Given the description of an element on the screen output the (x, y) to click on. 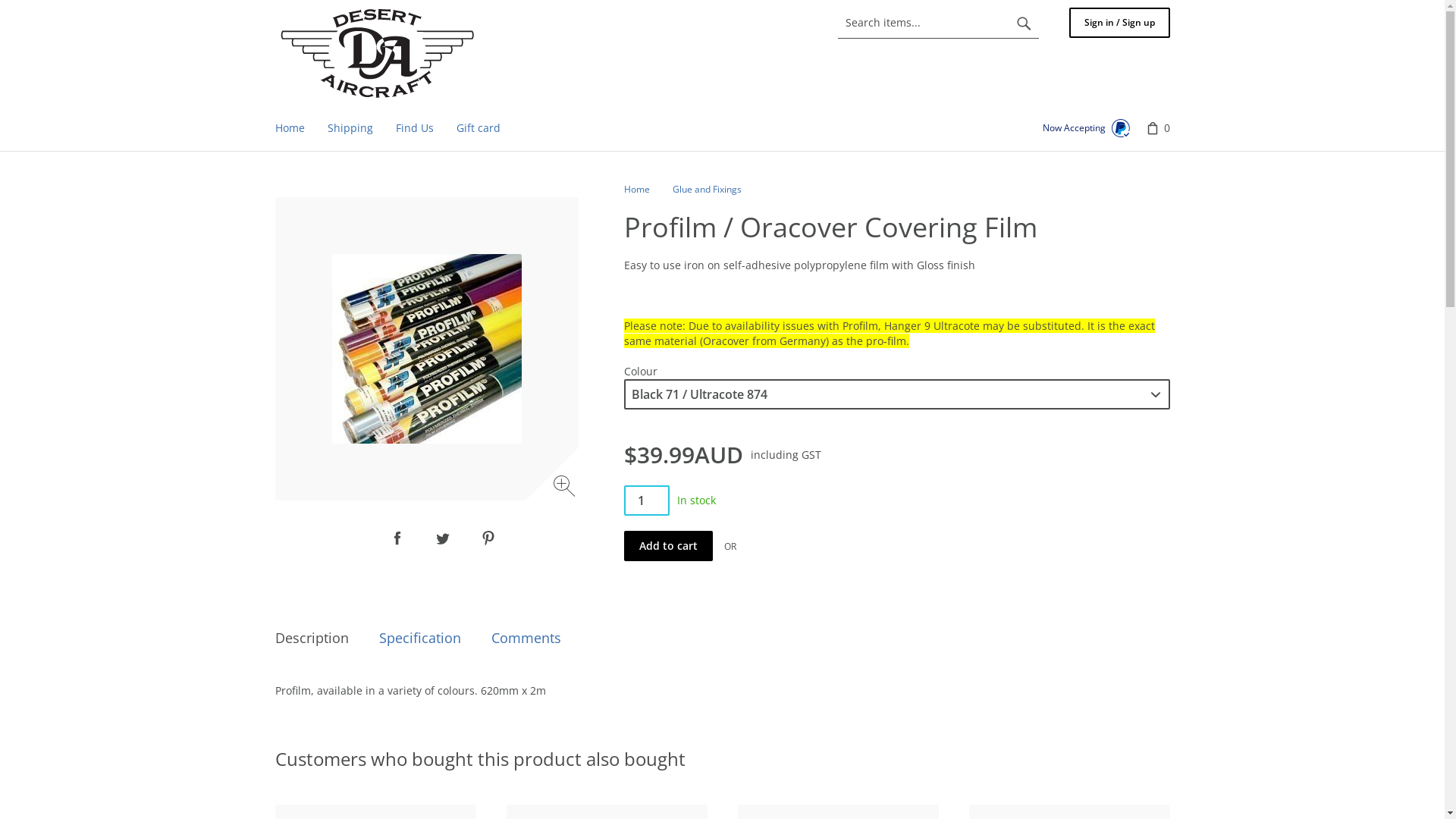
1 Element type: text (645, 500)
Glue and Fixings Element type: text (705, 188)
Shipping Element type: text (349, 127)
Gift card Element type: text (477, 127)
Specification Element type: text (420, 637)
Home Element type: text (289, 127)
Description Element type: text (311, 637)
Find Us Element type: text (413, 127)
Quantity Element type: hover (645, 500)
Home Element type: text (636, 188)
Home Element type: hover (377, 52)
Sign in / Sign up Element type: text (1119, 22)
Add to cart Element type: text (667, 545)
Comments Element type: text (526, 637)
Search Element type: hover (1023, 22)
